Given the description of an element on the screen output the (x, y) to click on. 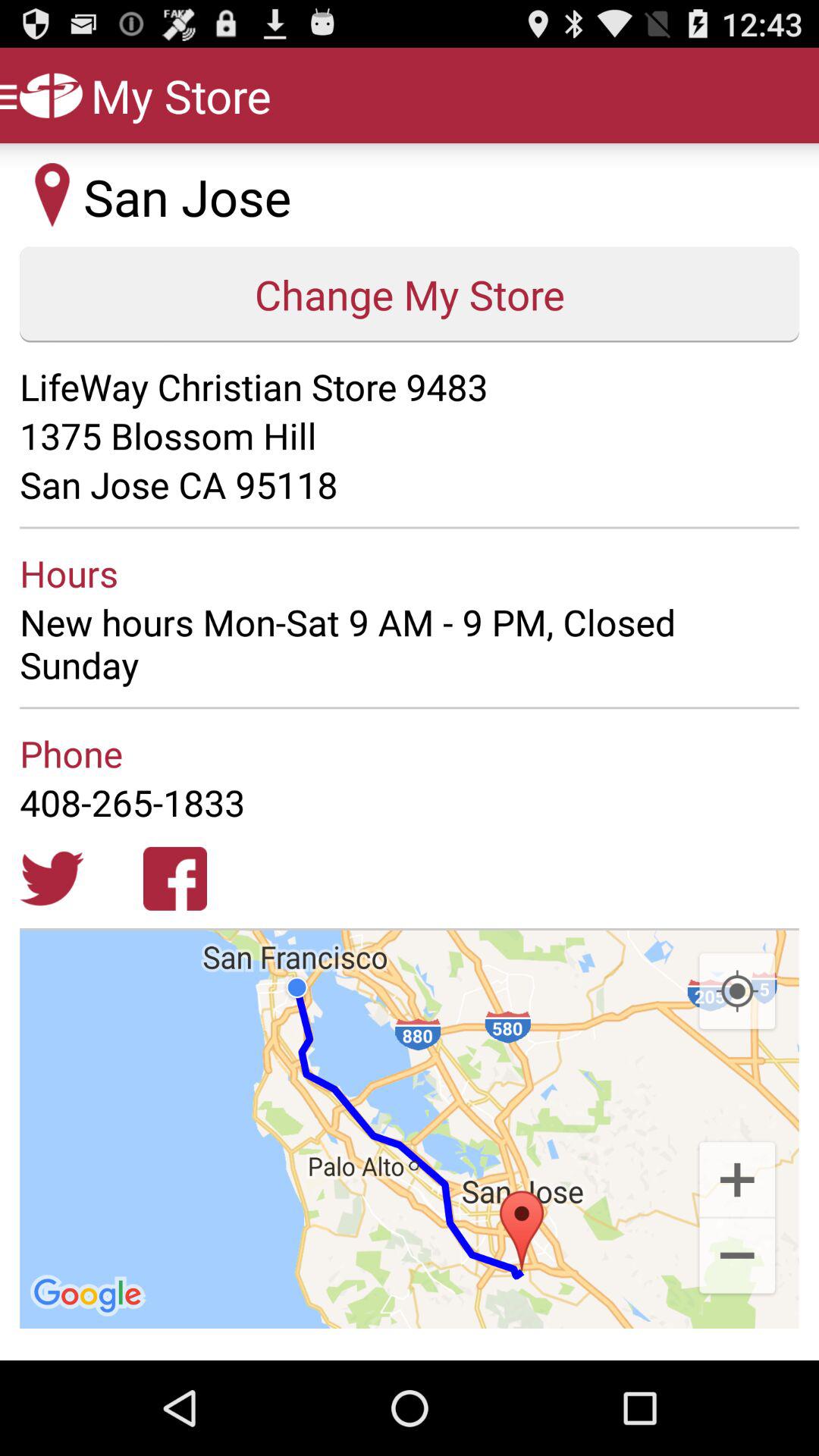
go to facebook page (175, 878)
